Given the description of an element on the screen output the (x, y) to click on. 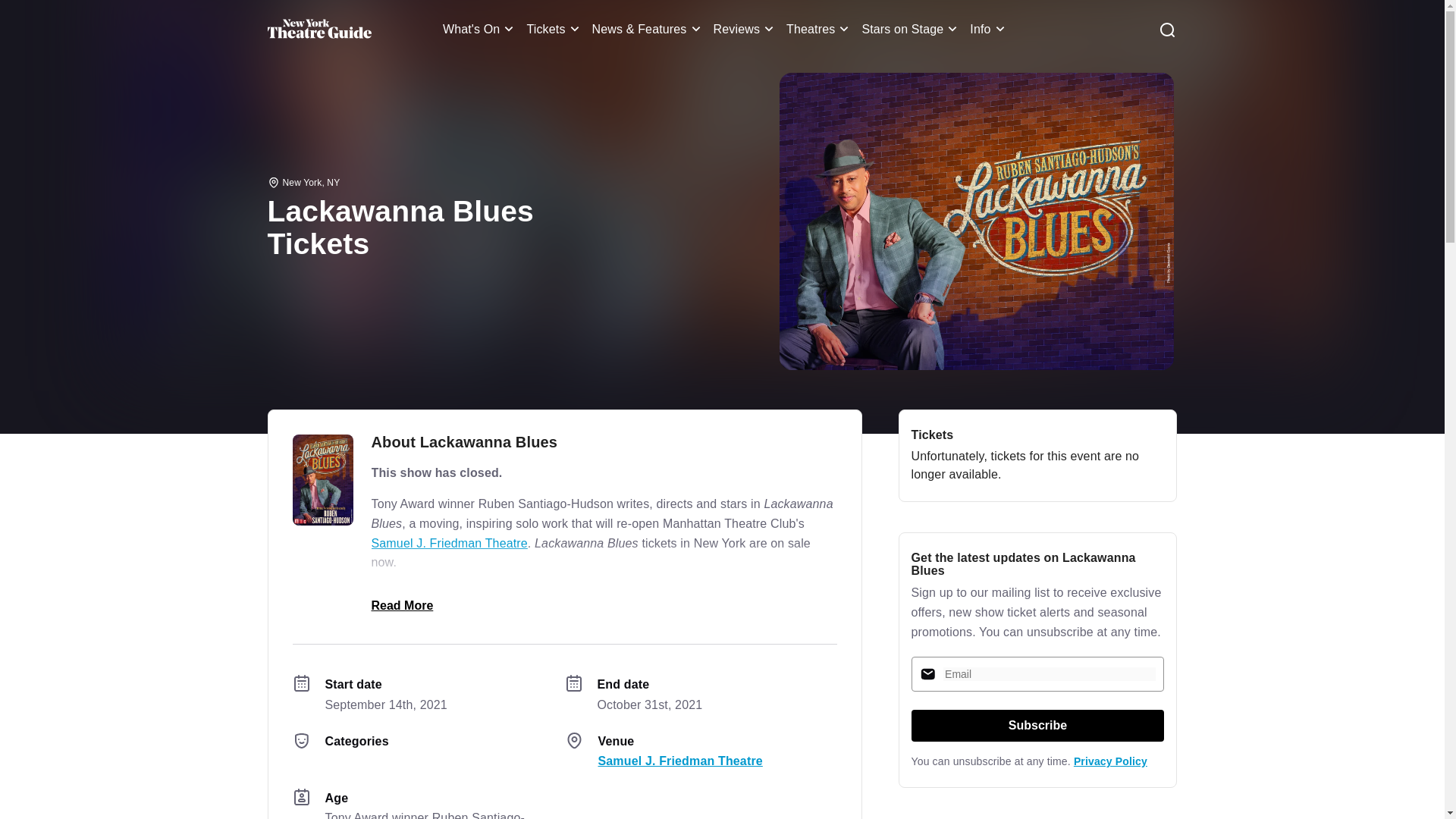
Theatres (819, 28)
What's On (480, 28)
Home (318, 28)
Tickets (554, 28)
Reviews (745, 28)
